Given the description of an element on the screen output the (x, y) to click on. 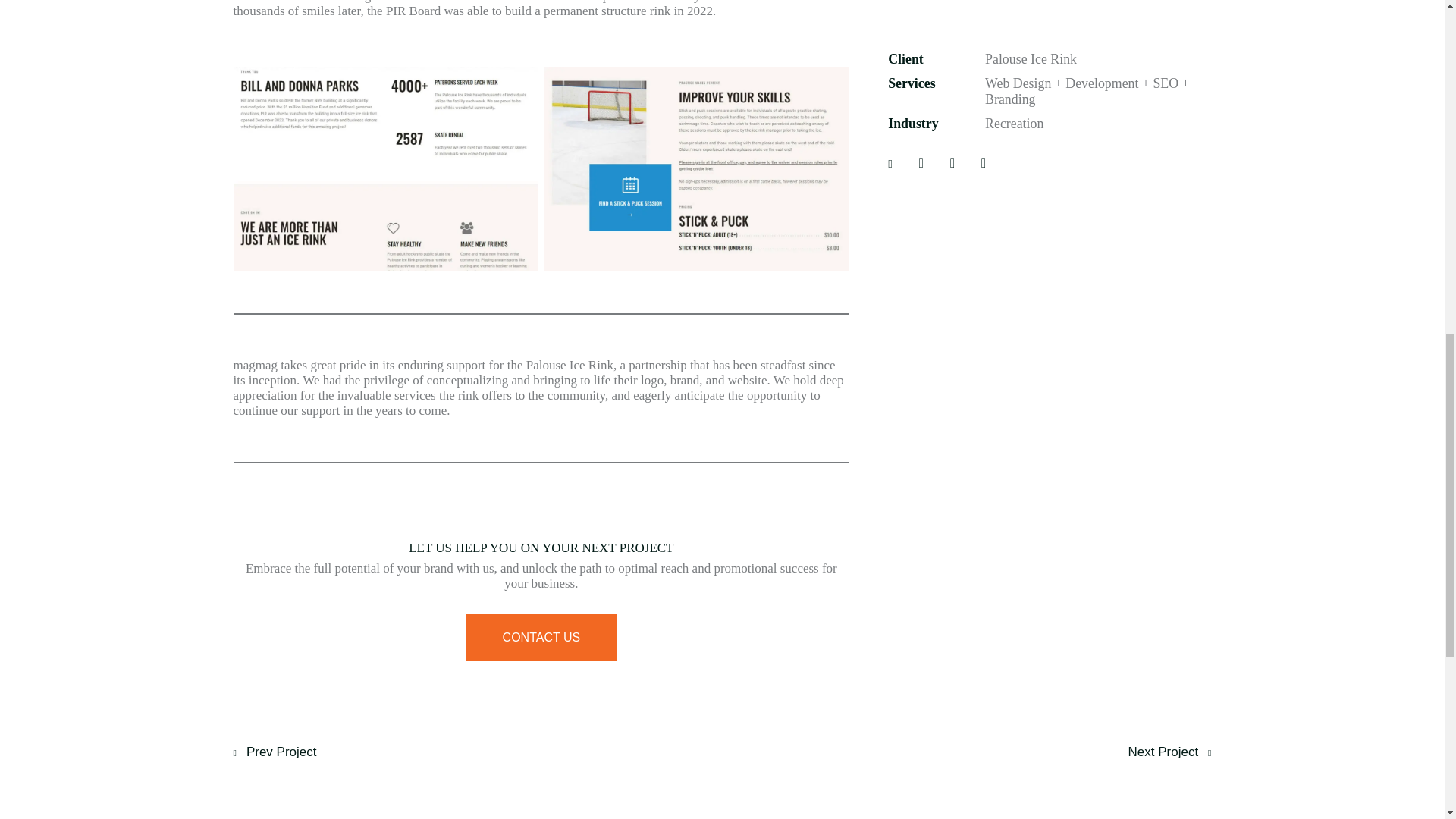
CONTACT US (541, 637)
